Given the description of an element on the screen output the (x, y) to click on. 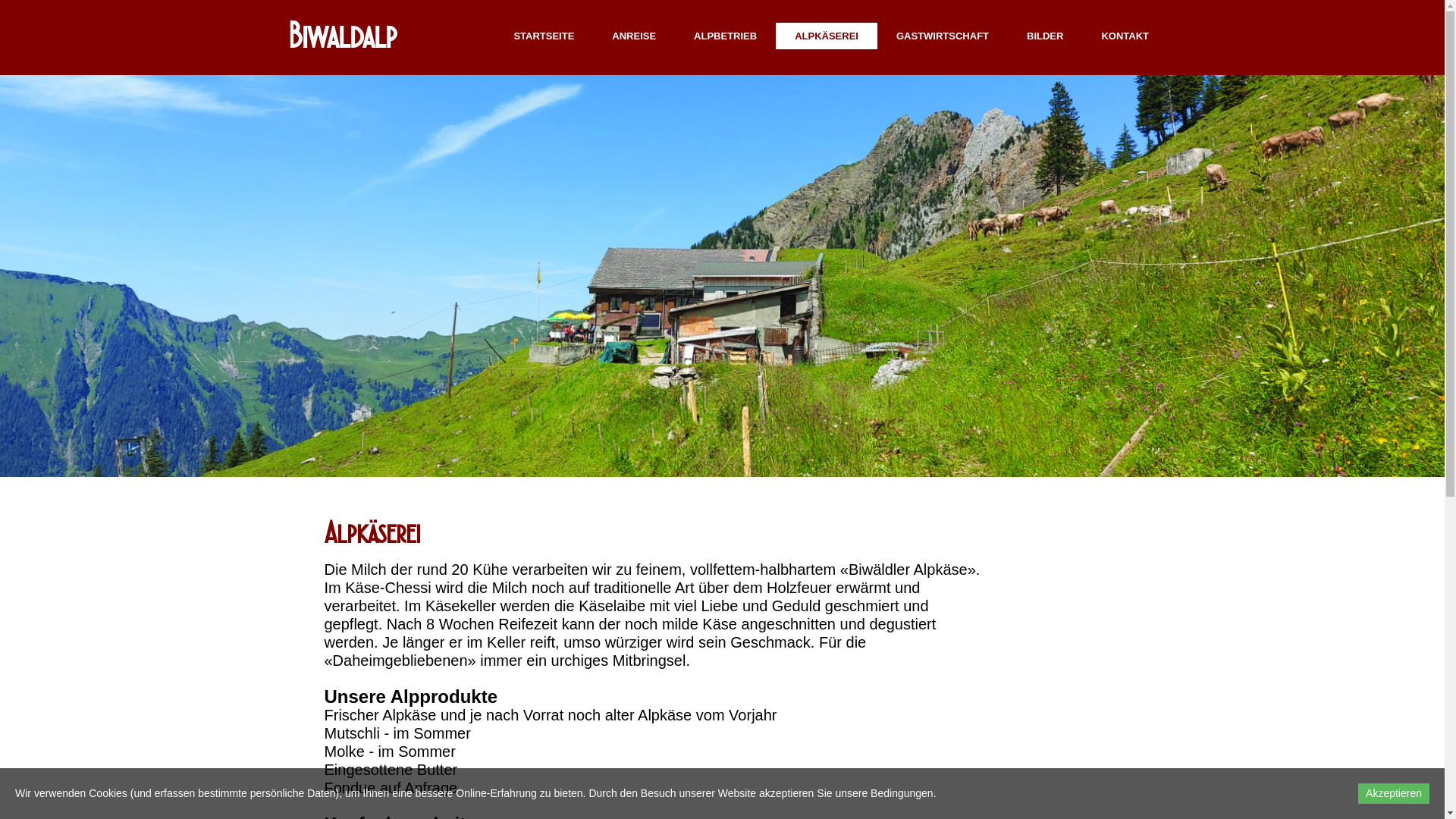
ALPBETRIEB Element type: text (724, 35)
STARTSEITE Element type: text (543, 35)
BILDER Element type: text (1044, 35)
GASTWIRTSCHAFT Element type: text (942, 35)
ANREISE Element type: text (633, 35)
Akzeptieren Element type: text (1393, 793)
KONTAKT Element type: text (1124, 35)
